Given the description of an element on the screen output the (x, y) to click on. 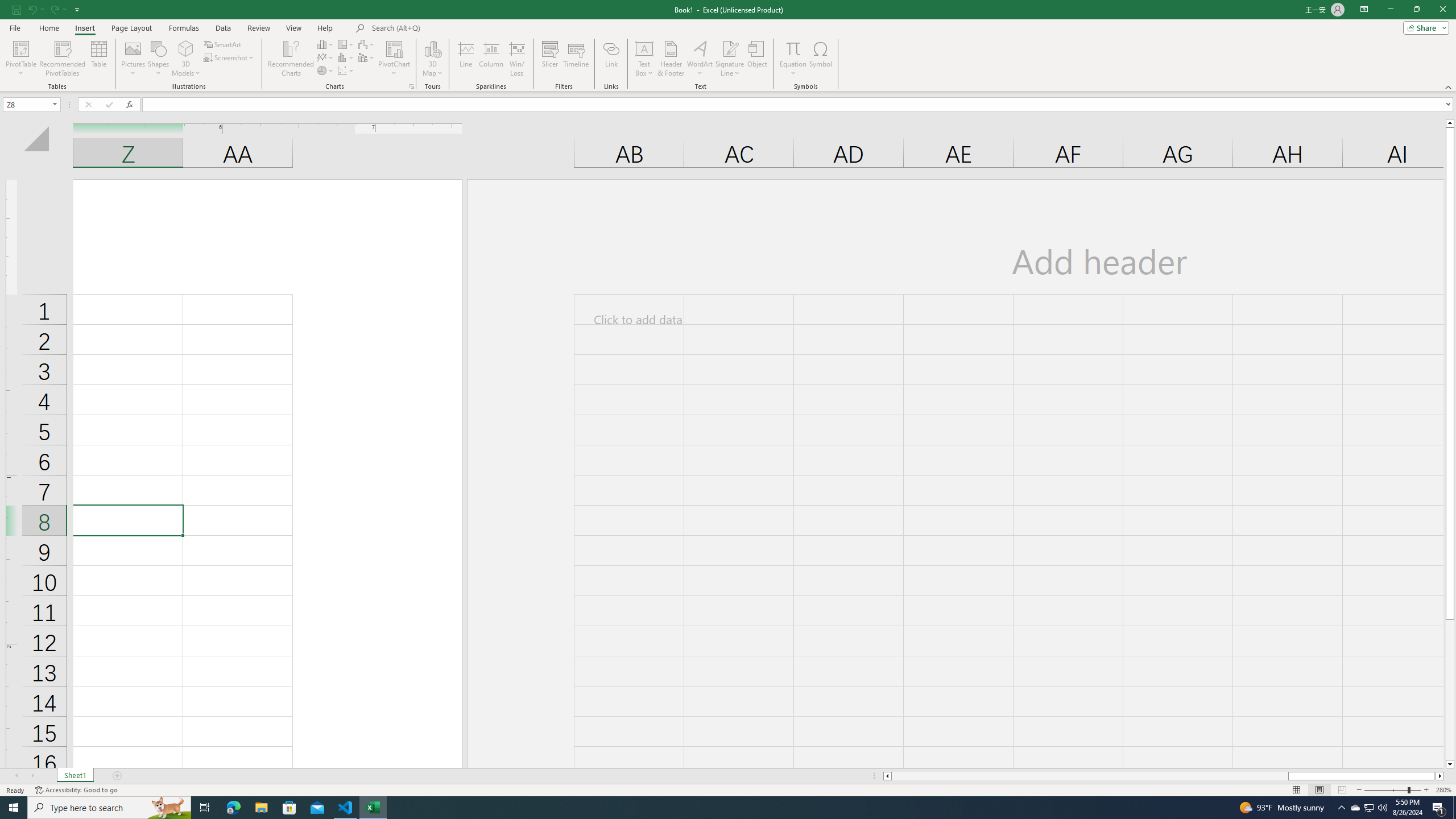
Insert Hierarchy Chart (346, 44)
3D Models (186, 48)
Insert Pie or Doughnut Chart (325, 69)
Screenshot (229, 56)
PivotChart (394, 58)
Header & Footer... (670, 58)
